Given the description of an element on the screen output the (x, y) to click on. 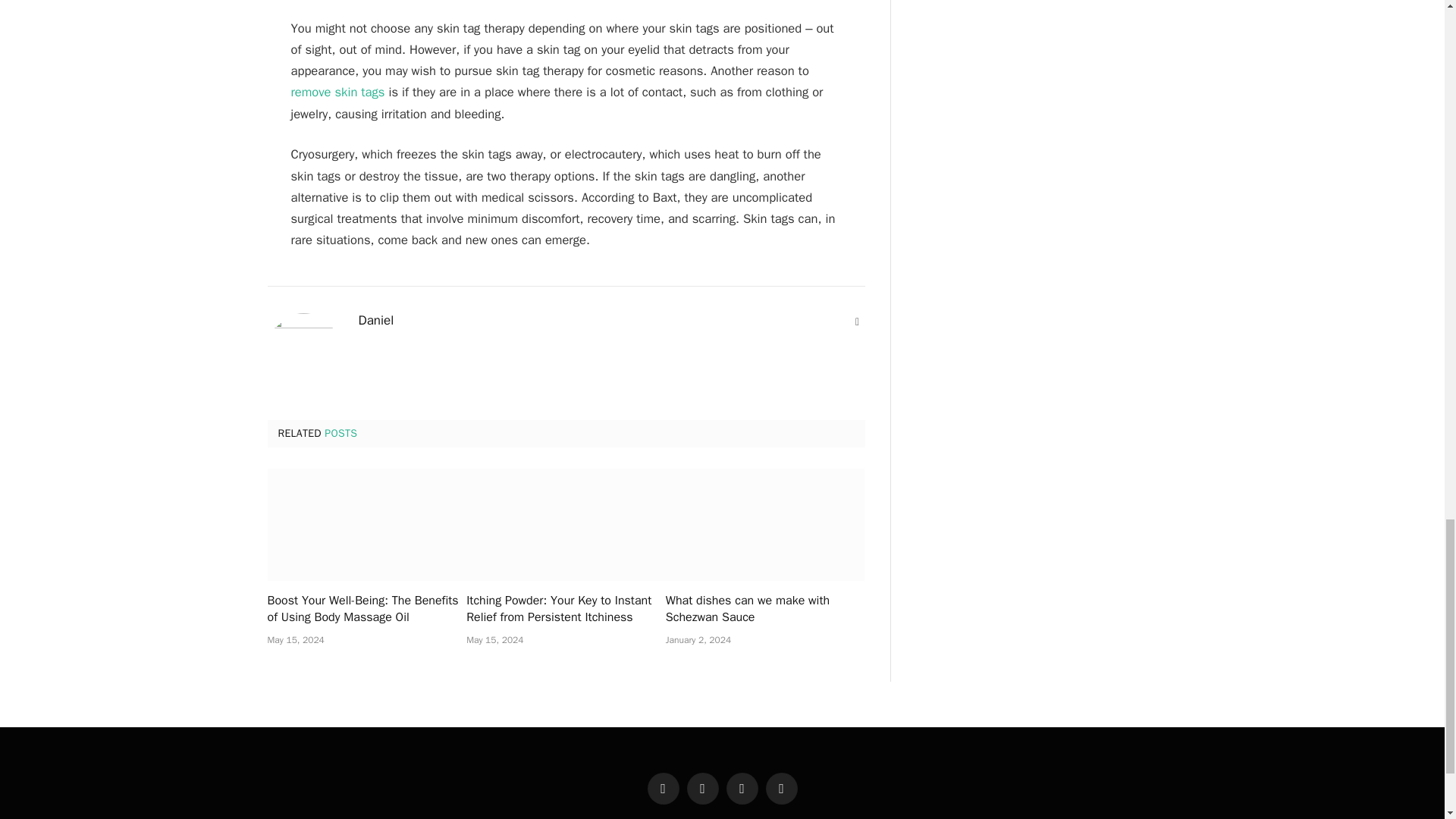
Daniel (375, 320)
remove skin tags (338, 91)
Posts by Daniel (375, 320)
What dishes can we make with Schezwan Sauce (764, 524)
Website (856, 322)
Website (856, 322)
What dishes can we make with Schezwan Sauce (764, 609)
